Given the description of an element on the screen output the (x, y) to click on. 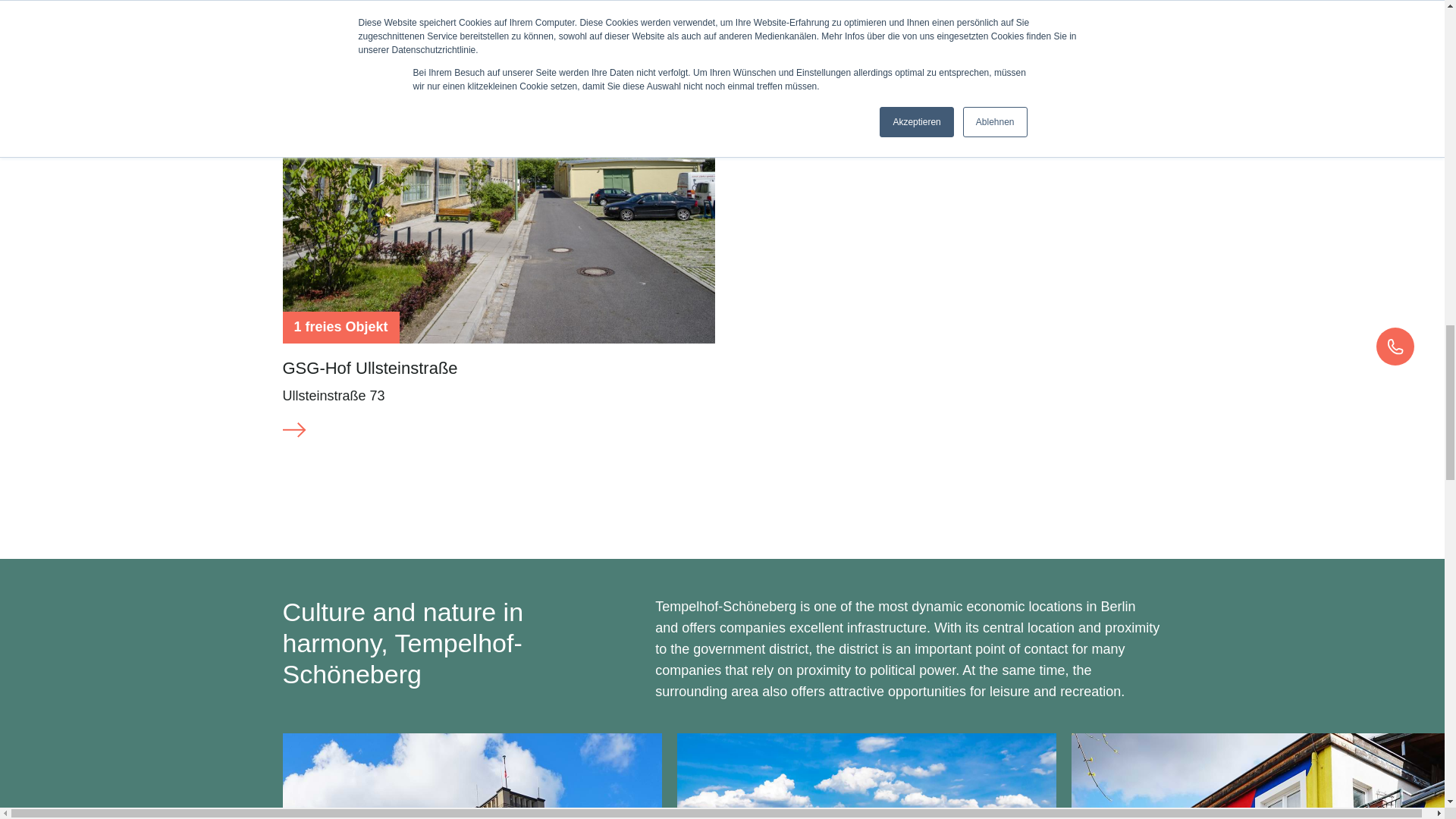
tempelhof-schoeneberg-tempelhofer-feld (866, 776)
tempelhof-schoeneberg-ufa-fabrik (1260, 776)
tempelhof-schoeneberg-rathaus (471, 776)
